Given the description of an element on the screen output the (x, y) to click on. 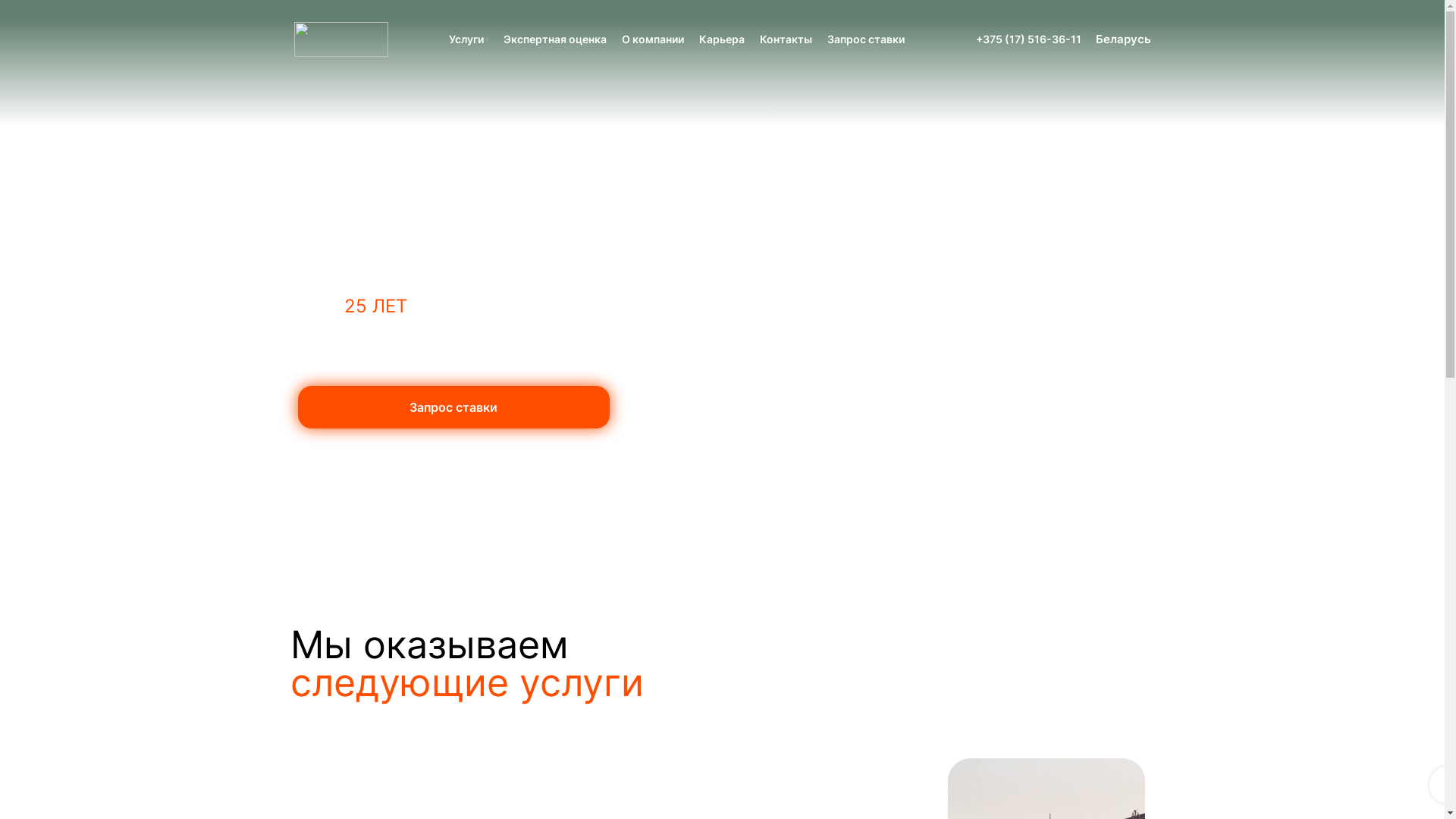
+375 (17) 516-36-11 Element type: text (1027, 38)
